Given the description of an element on the screen output the (x, y) to click on. 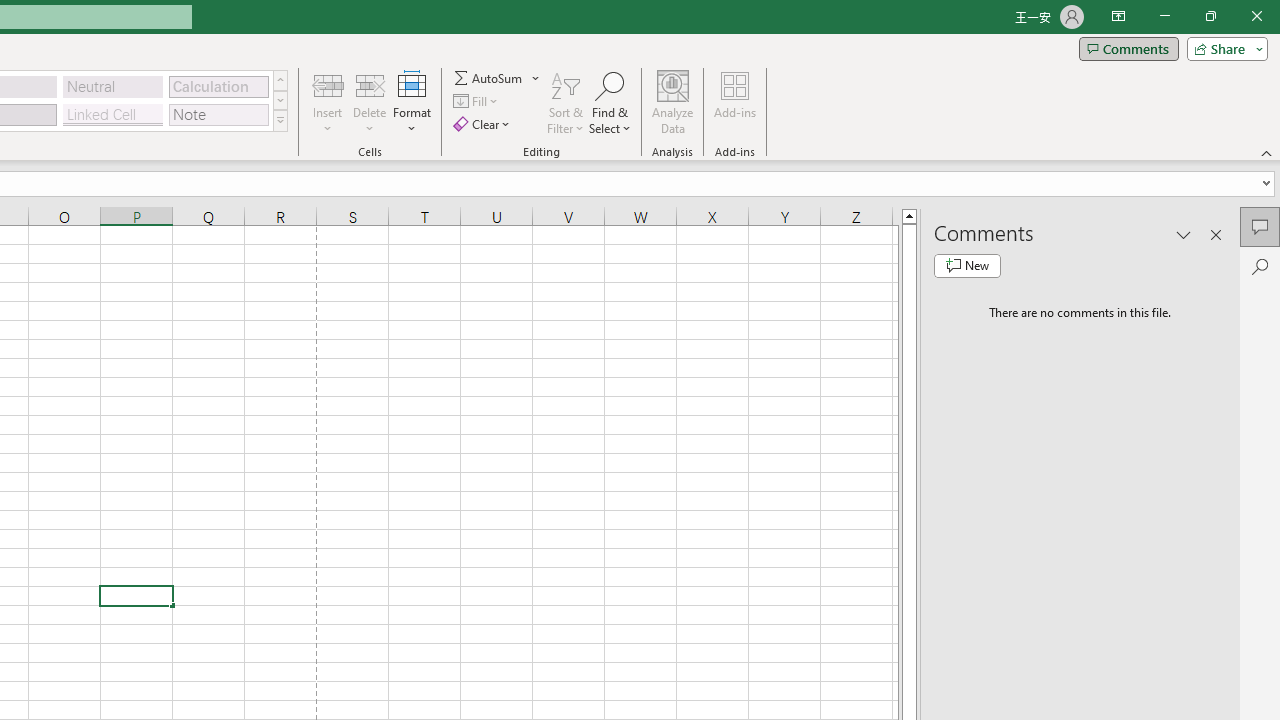
Delete (369, 102)
New comment (967, 265)
Insert Cells (328, 84)
